Given the description of an element on the screen output the (x, y) to click on. 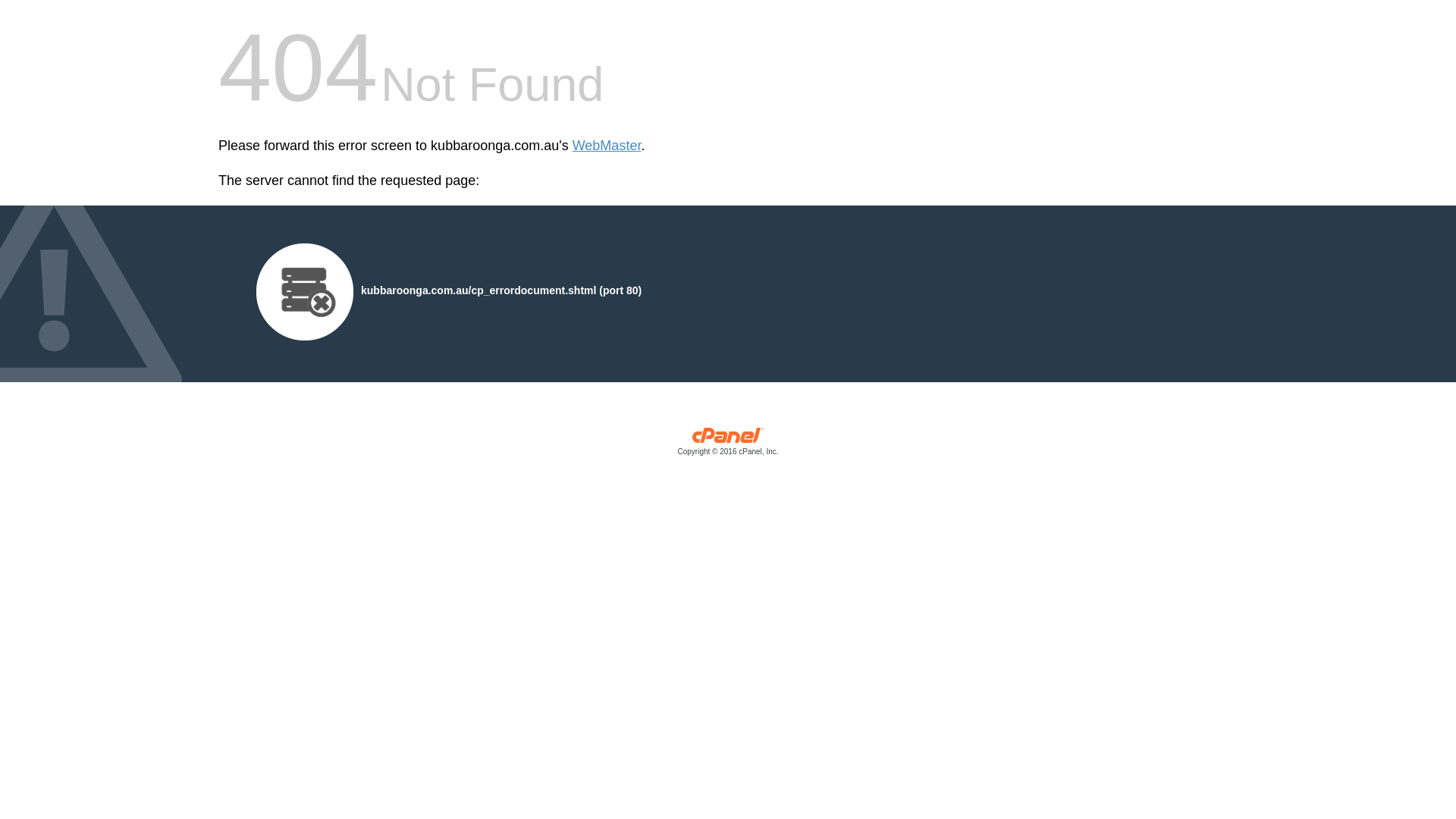
WebMaster Element type: text (606, 145)
